Given the description of an element on the screen output the (x, y) to click on. 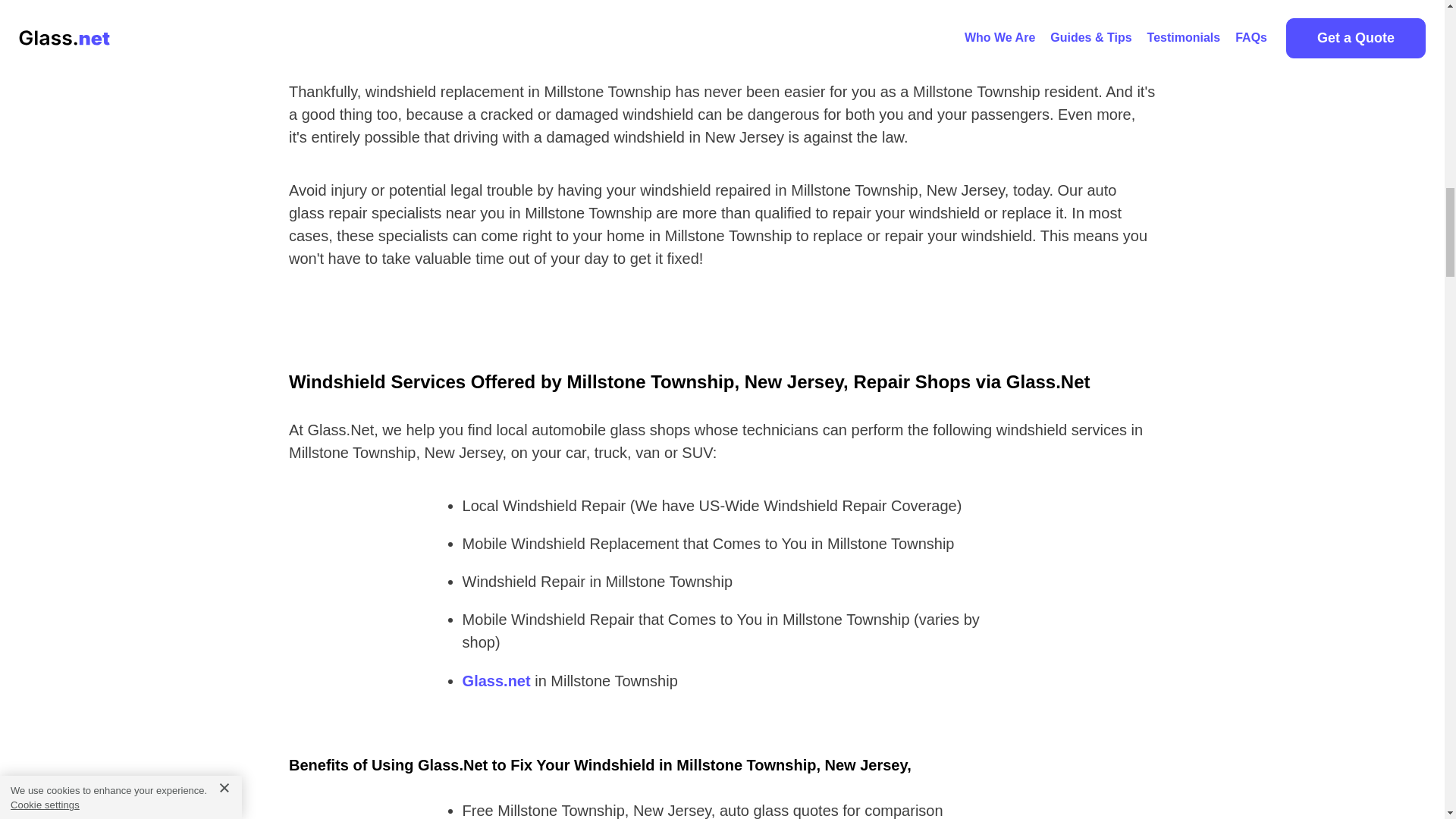
Glass.net (497, 680)
